Given the description of an element on the screen output the (x, y) to click on. 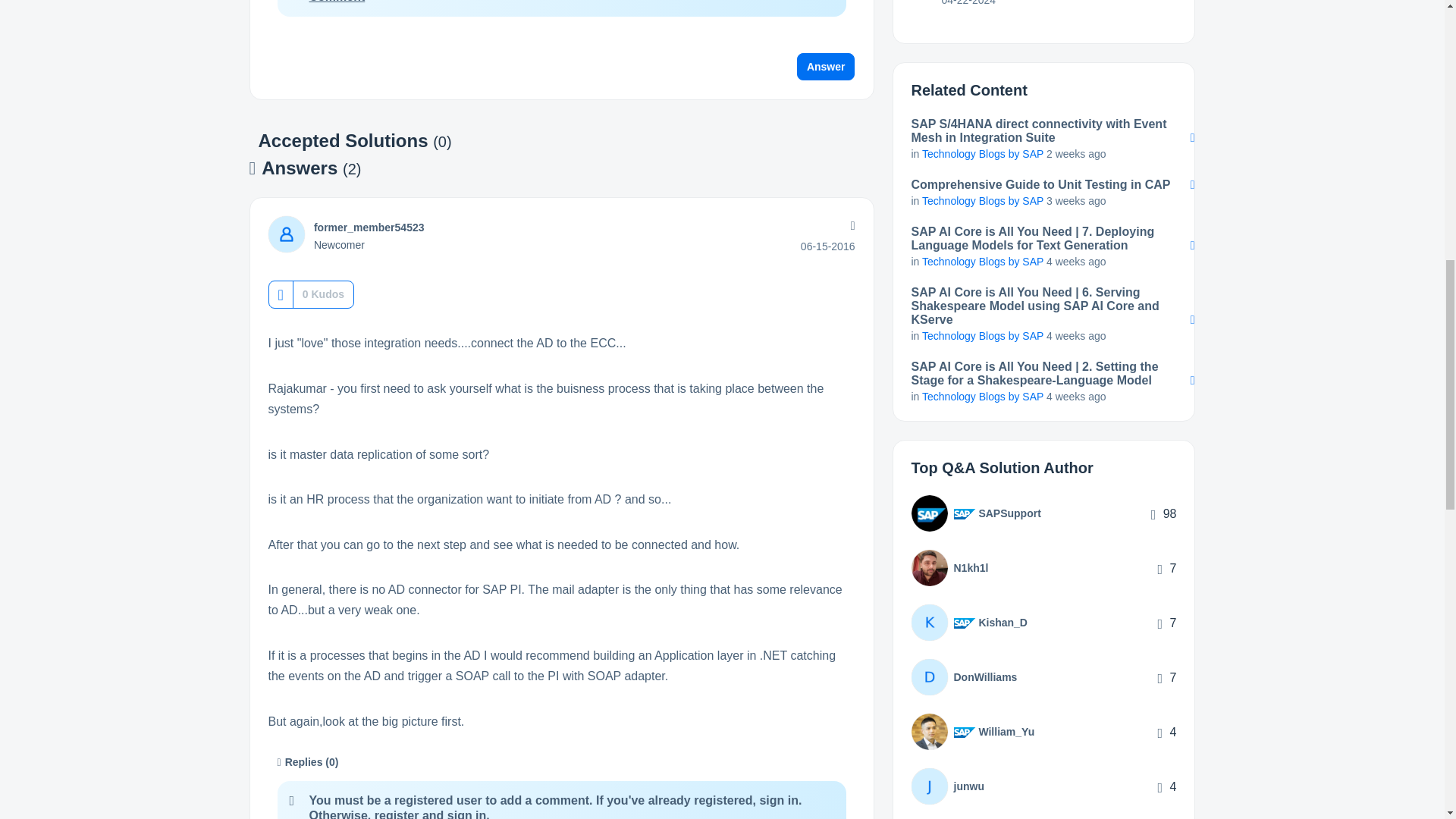
Comment (336, 1)
Answer (826, 66)
Show option menu (851, 225)
